Given the description of an element on the screen output the (x, y) to click on. 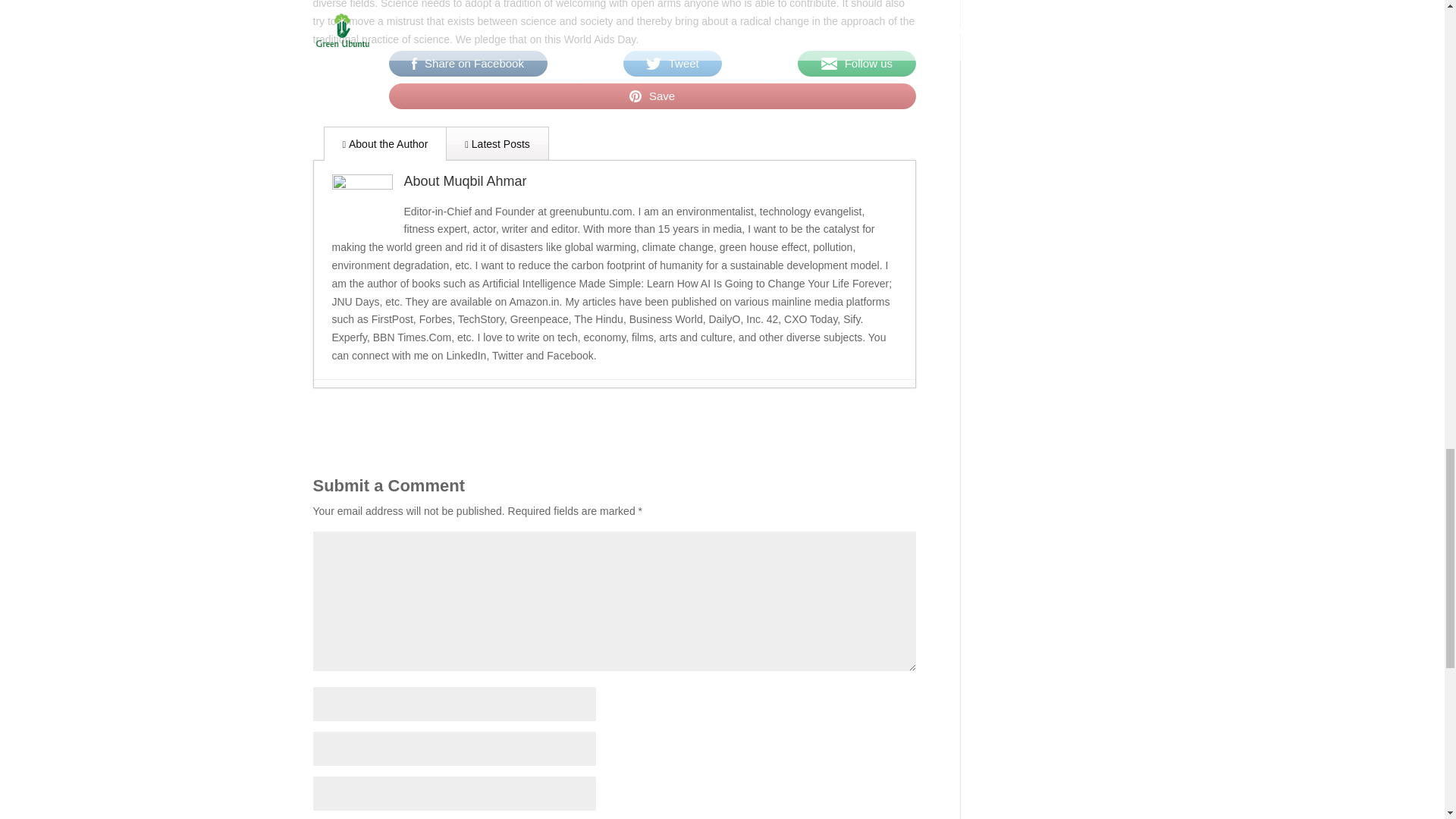
Save (651, 95)
Latest Posts (496, 143)
Share on Facebook (467, 63)
Follow us (856, 63)
About the Author (384, 143)
Tweet (672, 63)
